Given the description of an element on the screen output the (x, y) to click on. 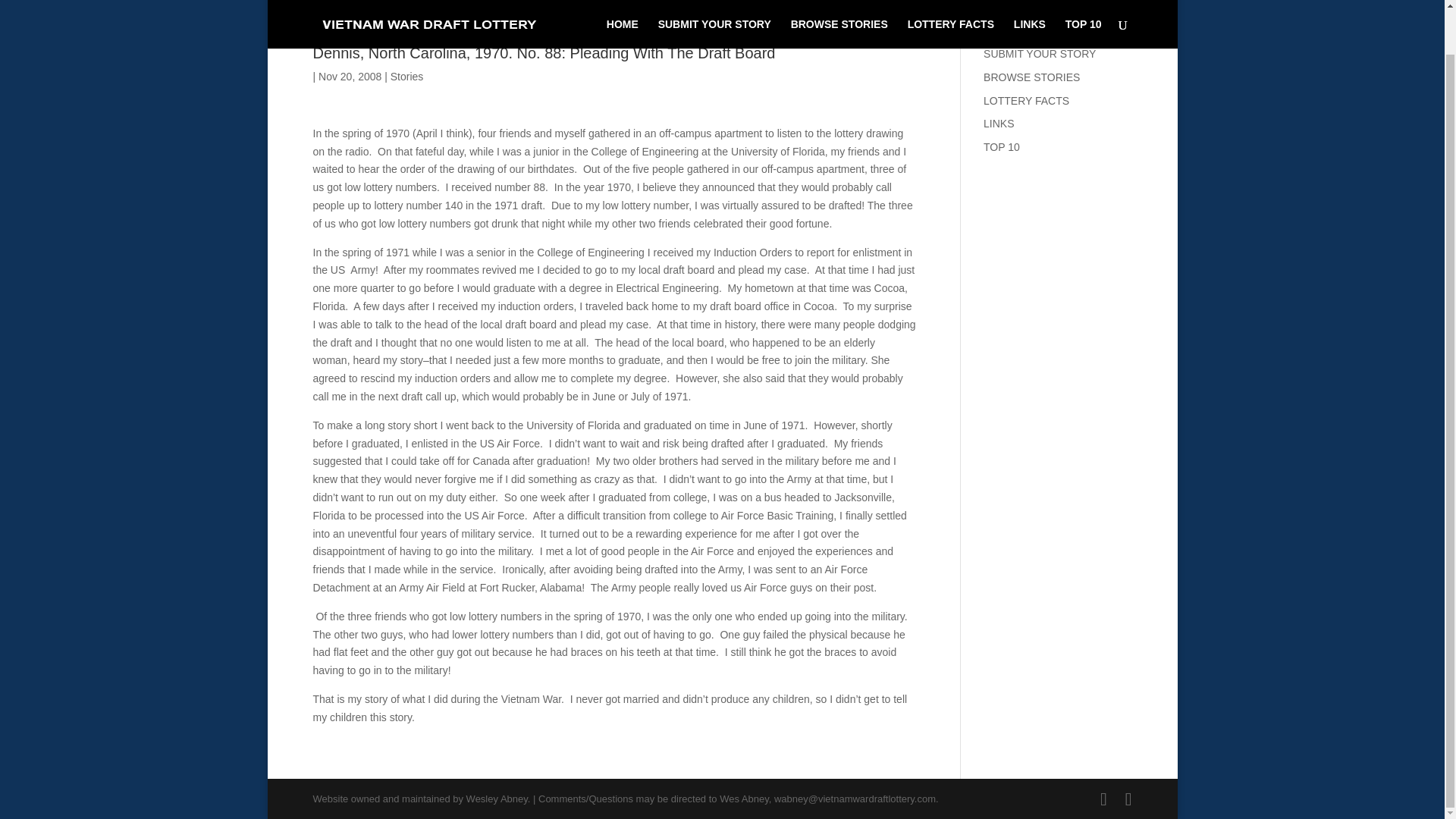
Stories (406, 76)
TOP 10 (1083, 0)
TOP 10 (1002, 146)
SUBMIT YOUR STORY (1040, 53)
BROWSE STORIES (1032, 77)
LINKS (1029, 0)
BROWSE STORIES (839, 0)
LOTTERY FACTS (1026, 101)
LOTTERY FACTS (950, 0)
SUBMIT YOUR STORY (714, 0)
